Given the description of an element on the screen output the (x, y) to click on. 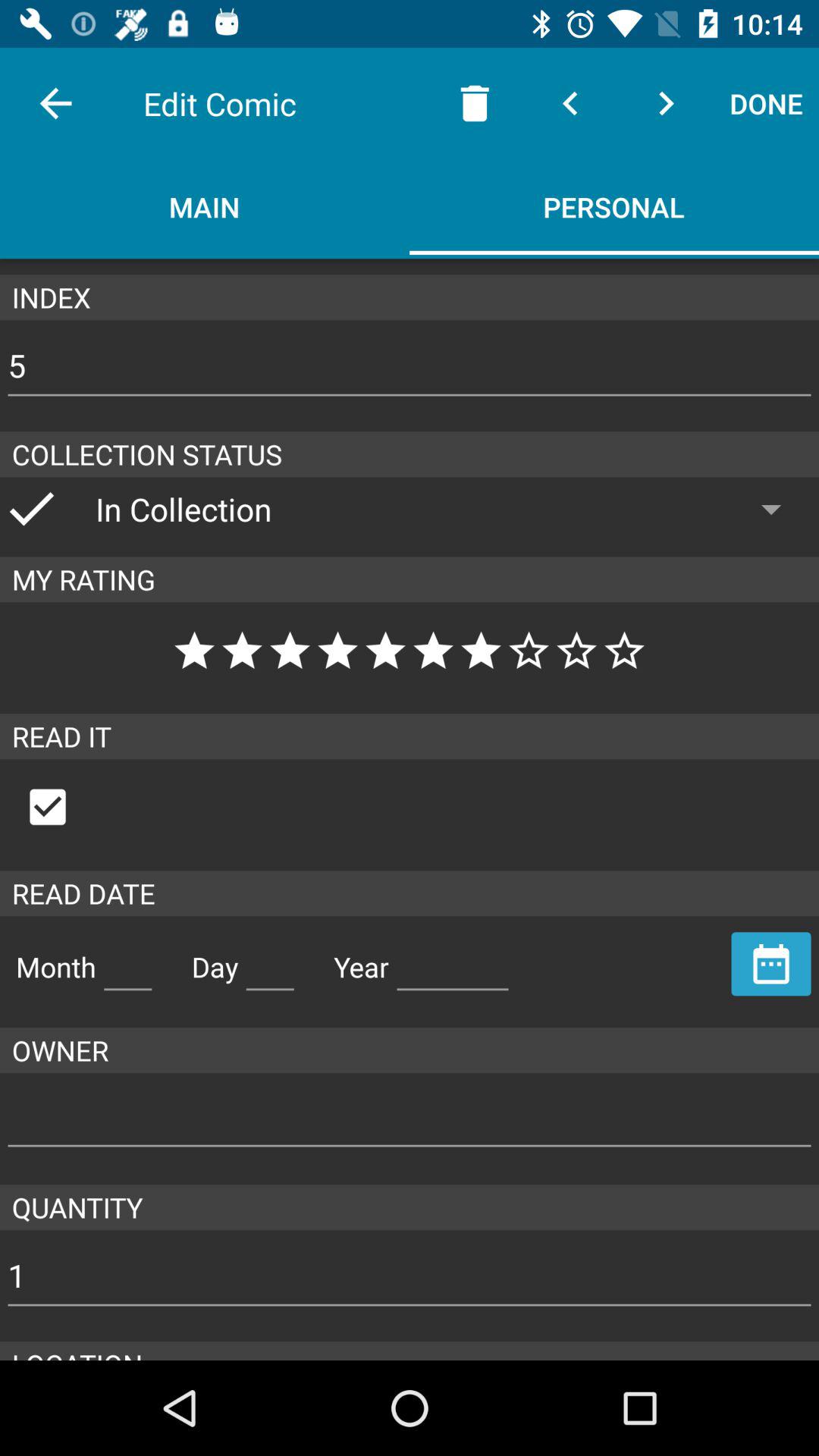
insert the month (127, 961)
